Given the description of an element on the screen output the (x, y) to click on. 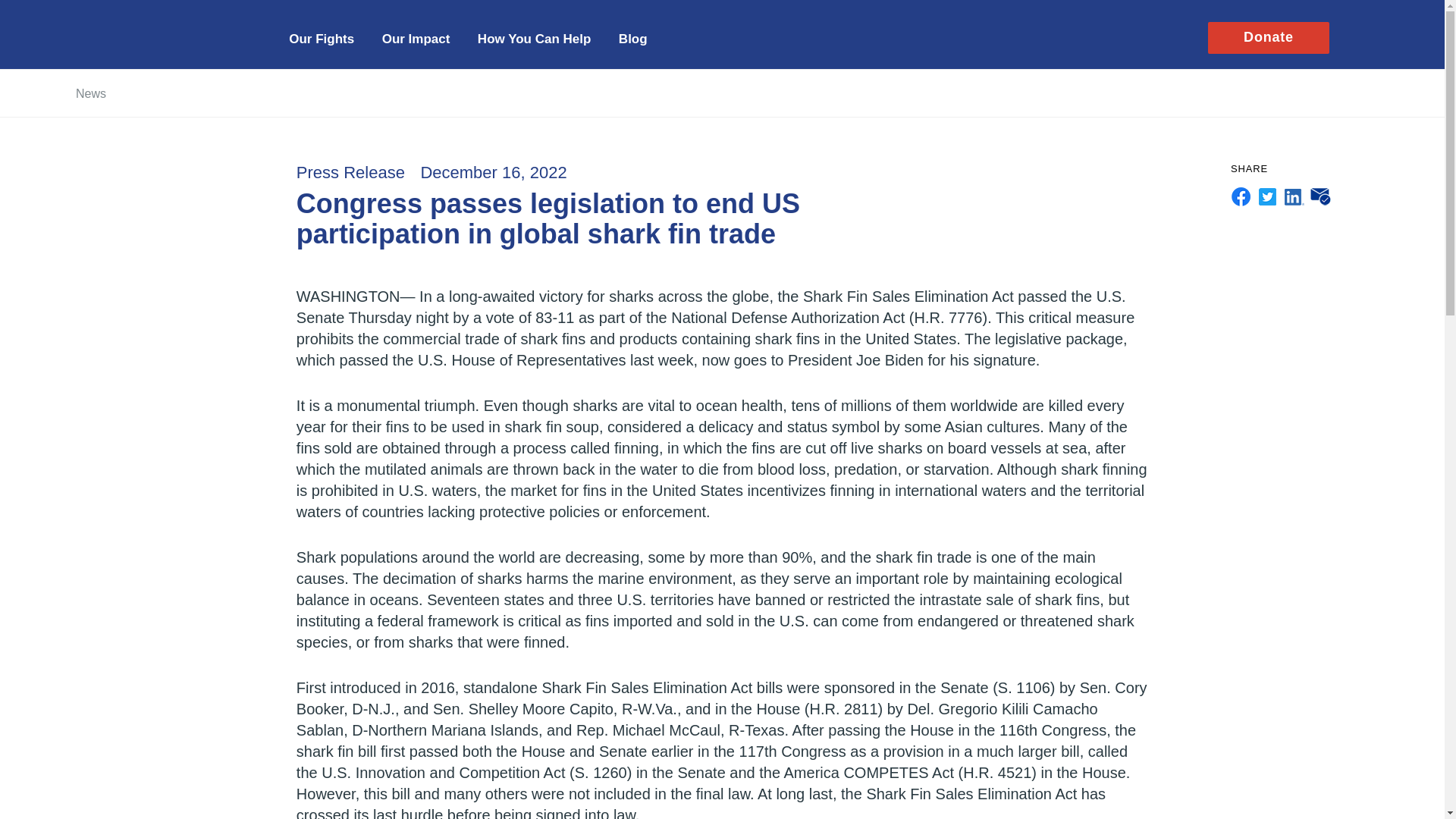
Blog (632, 38)
Our Impact (415, 38)
Donate (1268, 37)
Our Fights (320, 38)
News (90, 92)
Donate (1268, 37)
How You Can Help (534, 38)
The Humane Society of the United States (168, 28)
Our Impact (415, 38)
Our Fights (320, 38)
Home (168, 28)
Ways to donate to the Humane Society of the United States (534, 38)
